Given the description of an element on the screen output the (x, y) to click on. 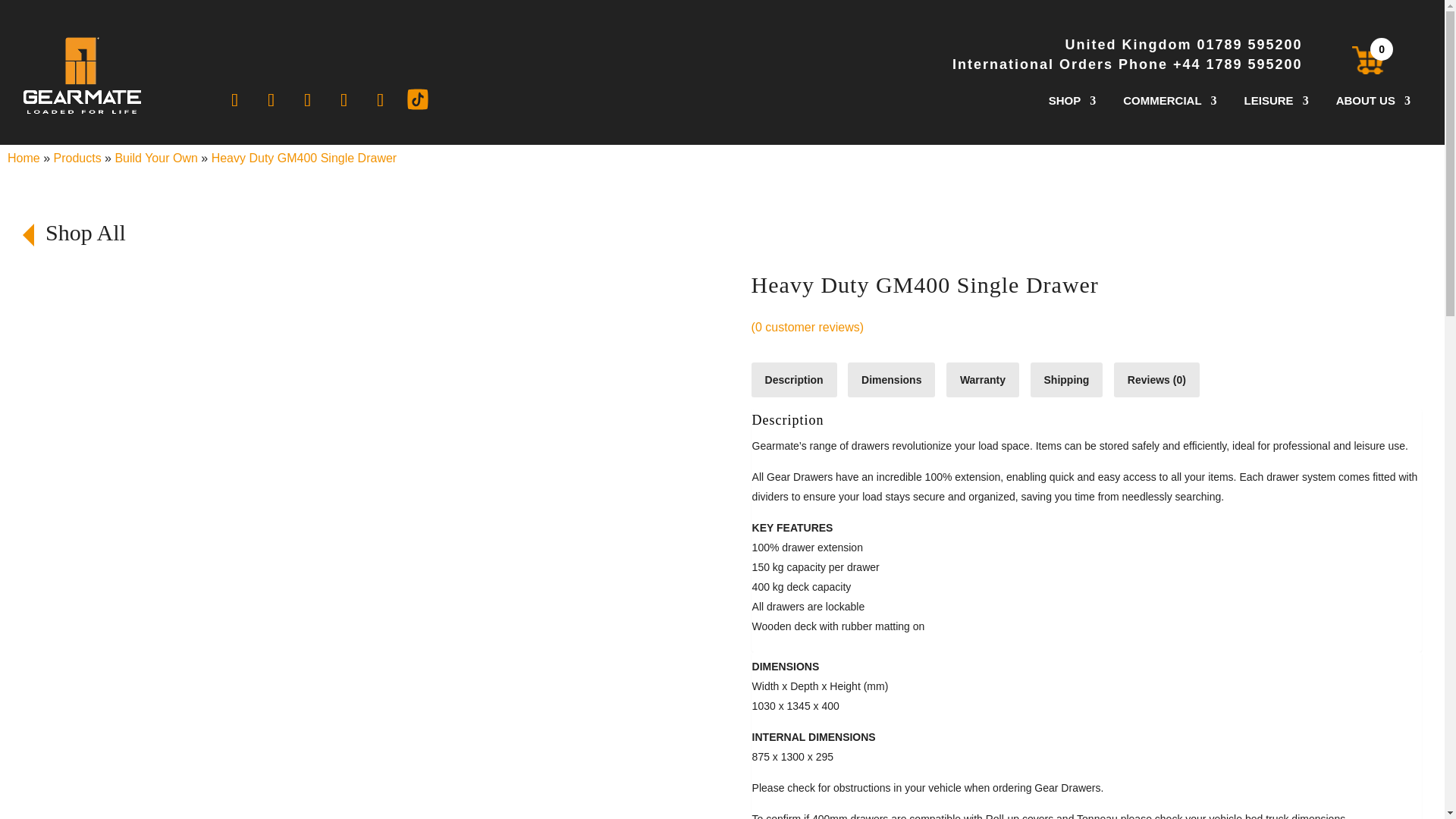
Follow on Instagram (380, 99)
Follow on Youtube (344, 99)
United Kingdom 01789 595200 (1127, 45)
Go to Gearmate. (23, 157)
Follow on Pinterest (271, 99)
COMMERCIAL (1168, 103)
LEISURE (1276, 103)
tiktok (417, 98)
0 (1351, 59)
Follow on Facebook (234, 99)
